Given the description of an element on the screen output the (x, y) to click on. 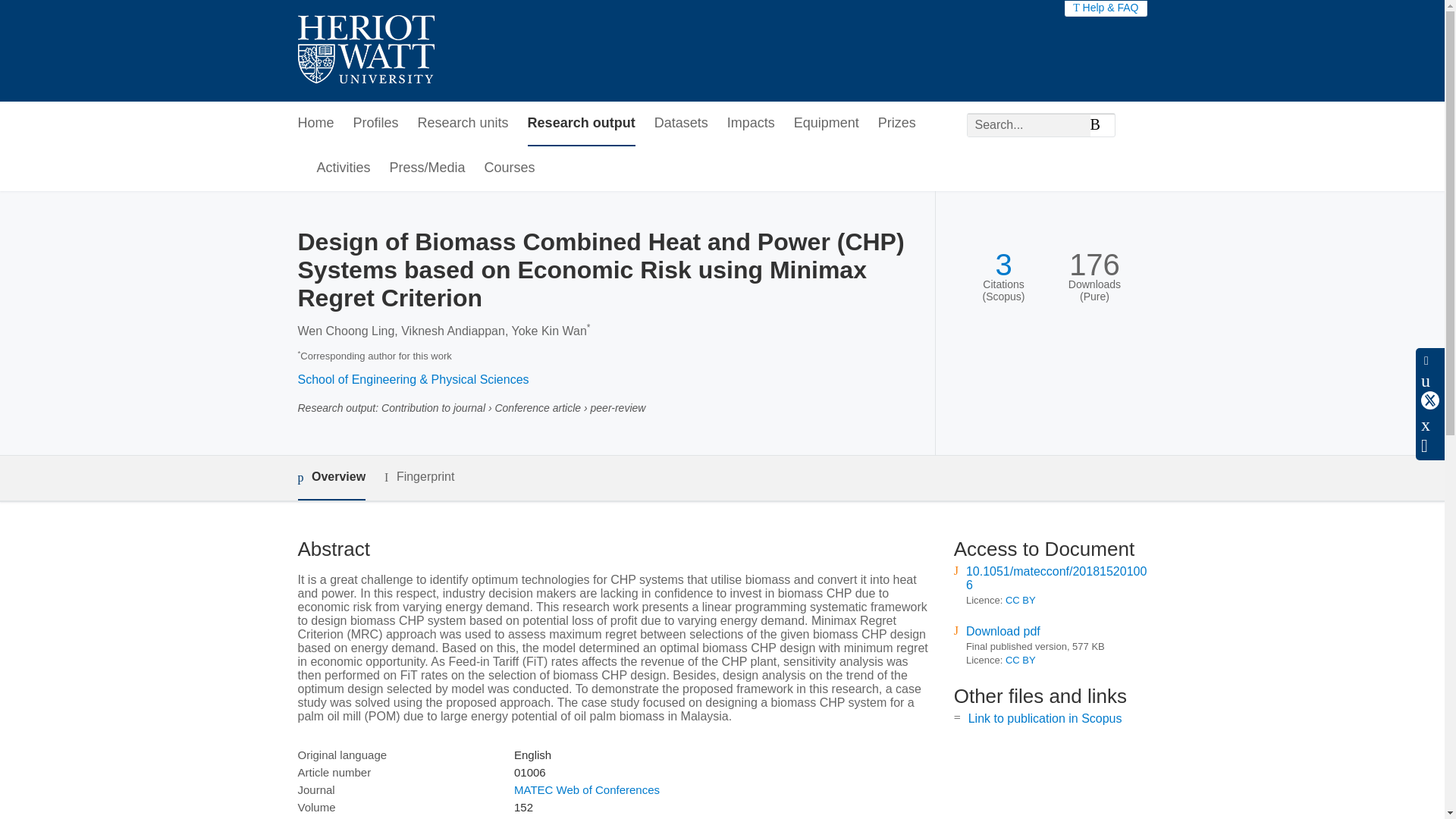
CC BY (1020, 600)
CC BY (1020, 659)
Research output (580, 123)
Courses (509, 168)
Datasets (680, 123)
Impacts (750, 123)
MATEC Web of Conferences (586, 789)
Download pdf (1003, 631)
Link to publication in Scopus (1045, 717)
Research units (462, 123)
Fingerprint (419, 476)
Overview (331, 477)
Equipment (826, 123)
Profiles (375, 123)
